Given the description of an element on the screen output the (x, y) to click on. 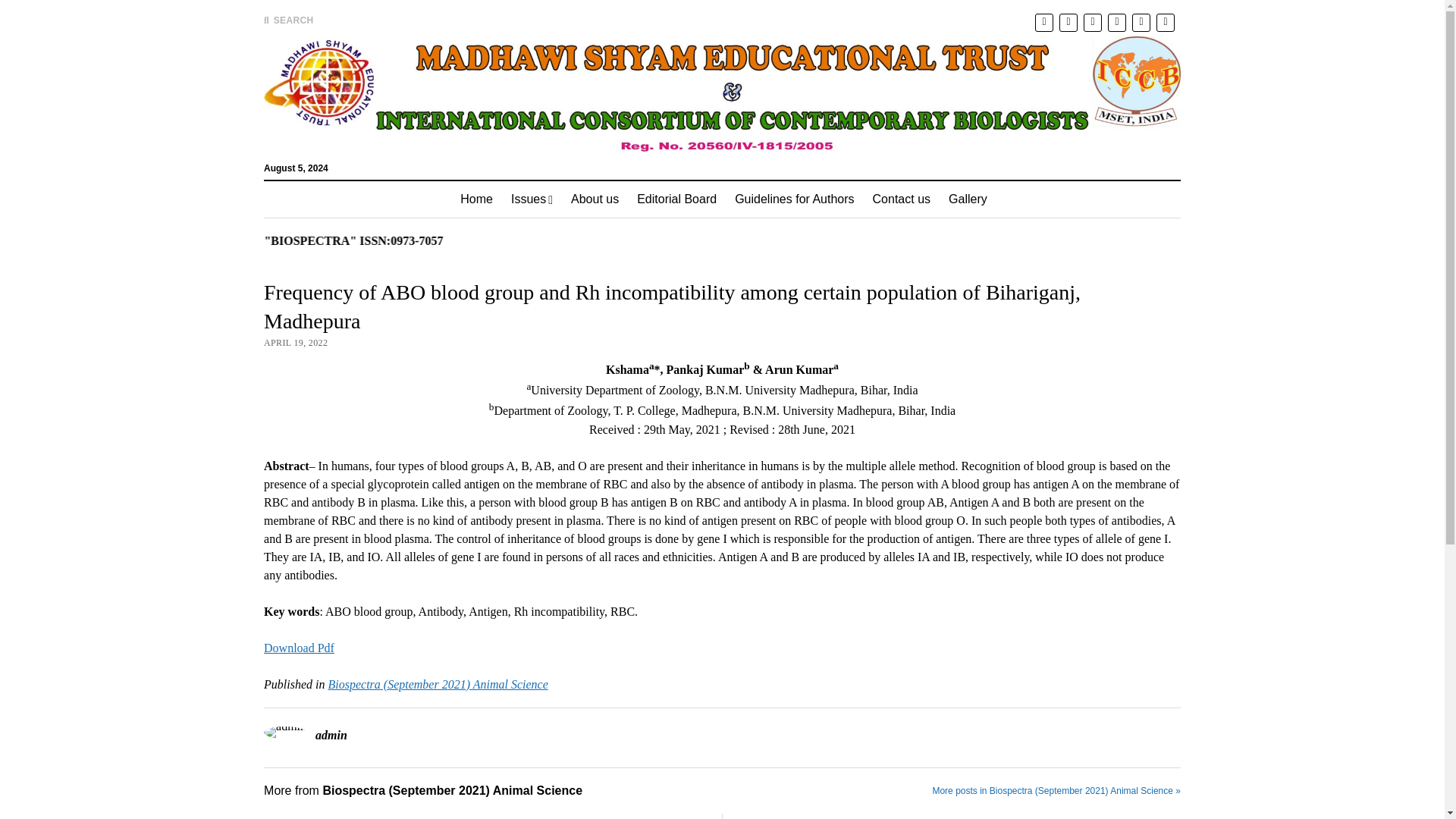
phone (1141, 22)
SEARCH (288, 20)
Issues (532, 198)
Home (476, 198)
Search (945, 129)
